Given the description of an element on the screen output the (x, y) to click on. 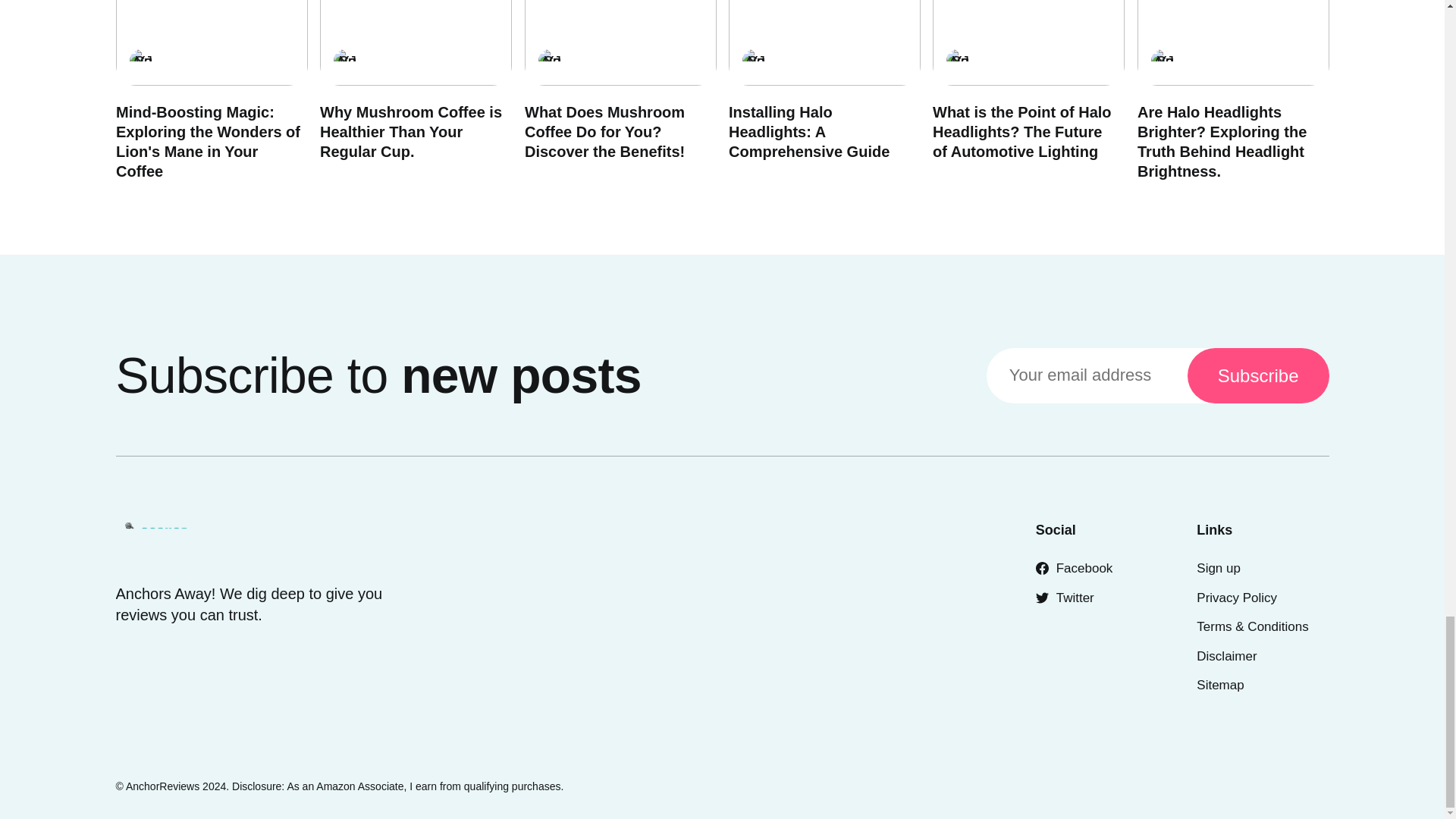
Installing Halo Headlights: A Comprehensive Guide (808, 131)
CJ Young (140, 60)
Facebook (1074, 568)
CJ Young (548, 60)
CJ Young (957, 60)
Subscribe (1258, 375)
Twitter (1064, 597)
CJ Young (752, 60)
CJ Young (344, 60)
Why Mushroom Coffee is Healthier Than Your Regular Cup. (411, 131)
CJ Young (1161, 60)
Sign up (1218, 568)
What Does Mushroom Coffee Do for You? Discover the Benefits! (604, 131)
